Given the description of an element on the screen output the (x, y) to click on. 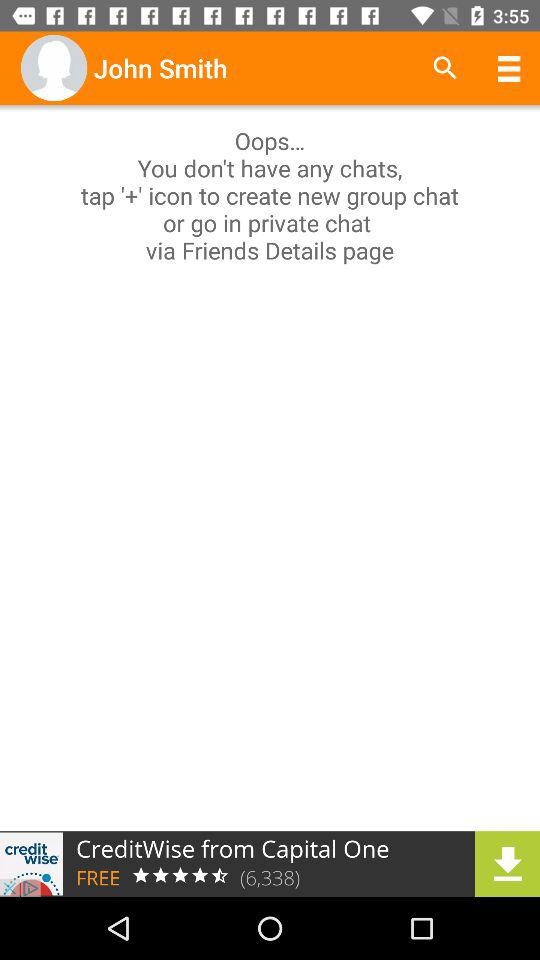
advertisement from outside source (270, 864)
